Given the description of an element on the screen output the (x, y) to click on. 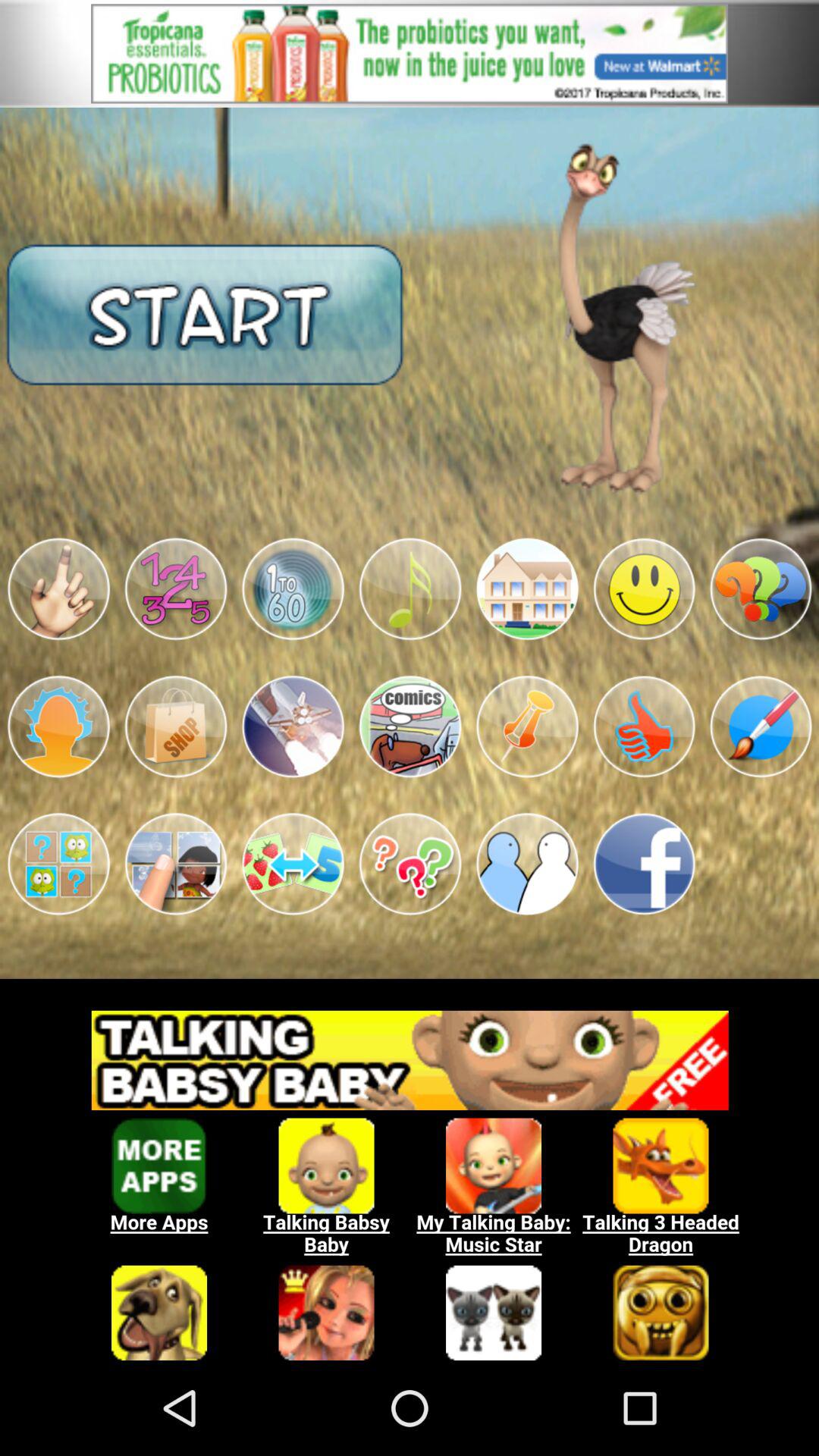
go to the app (409, 863)
